Given the description of an element on the screen output the (x, y) to click on. 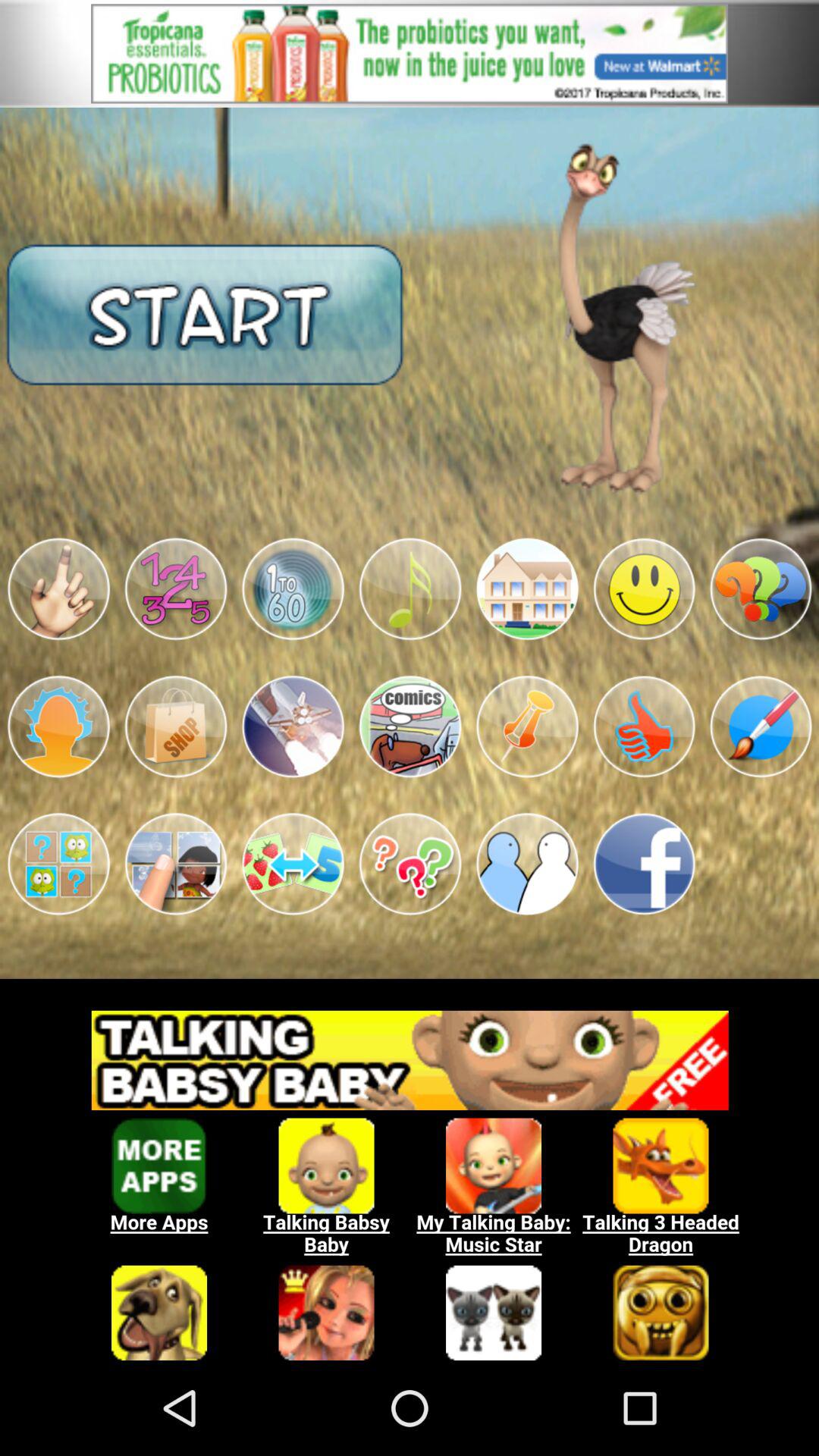
go to the app (409, 863)
